Given the description of an element on the screen output the (x, y) to click on. 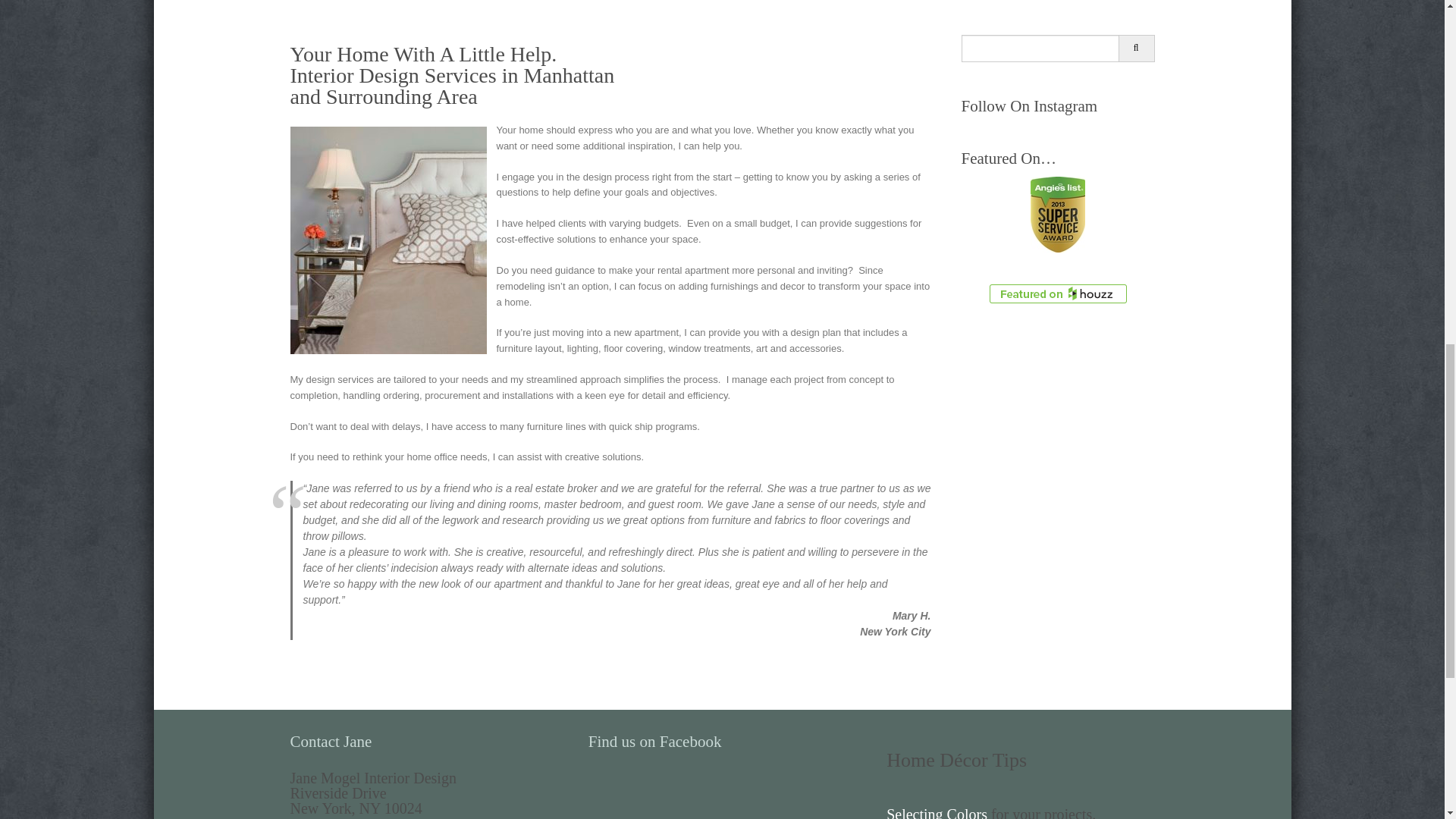
Search (1136, 48)
Selecting Colors (936, 812)
